Given the description of an element on the screen output the (x, y) to click on. 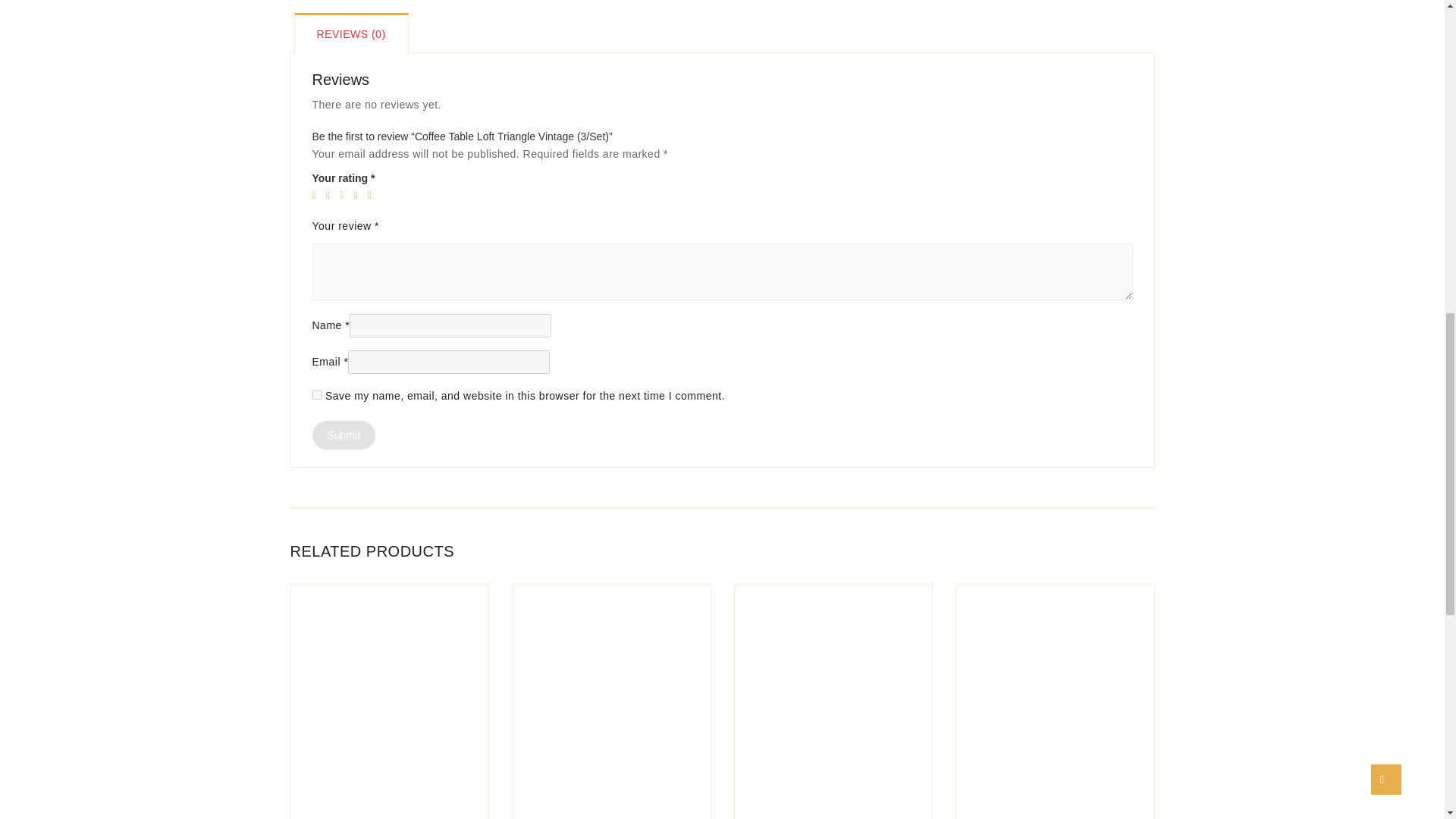
yes (317, 394)
Submit (344, 434)
